Given the description of an element on the screen output the (x, y) to click on. 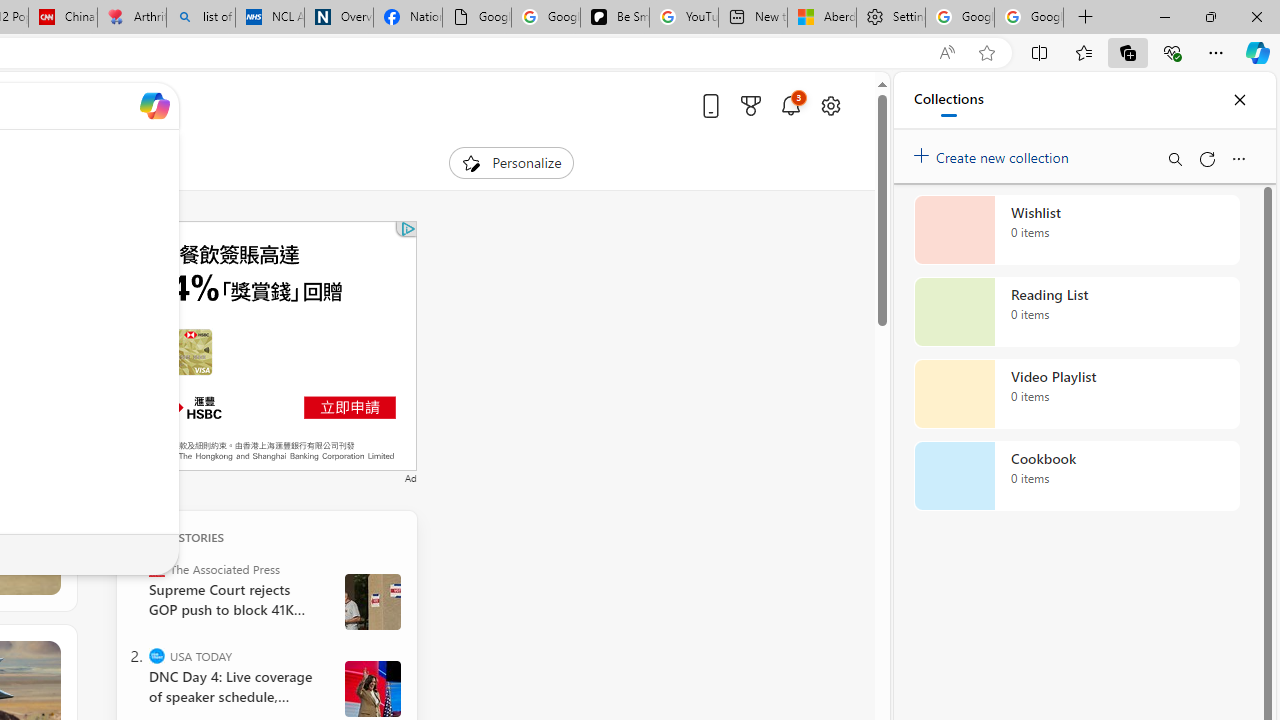
list of asthma inhalers uk - Search (200, 17)
Reading List collection, 0 items (1076, 312)
Google Analytics Opt-out Browser Add-on Download Page (476, 17)
Wishlist collection, 0 items (1076, 229)
Be Smart | creating Science videos | Patreon (614, 17)
